Given the description of an element on the screen output the (x, y) to click on. 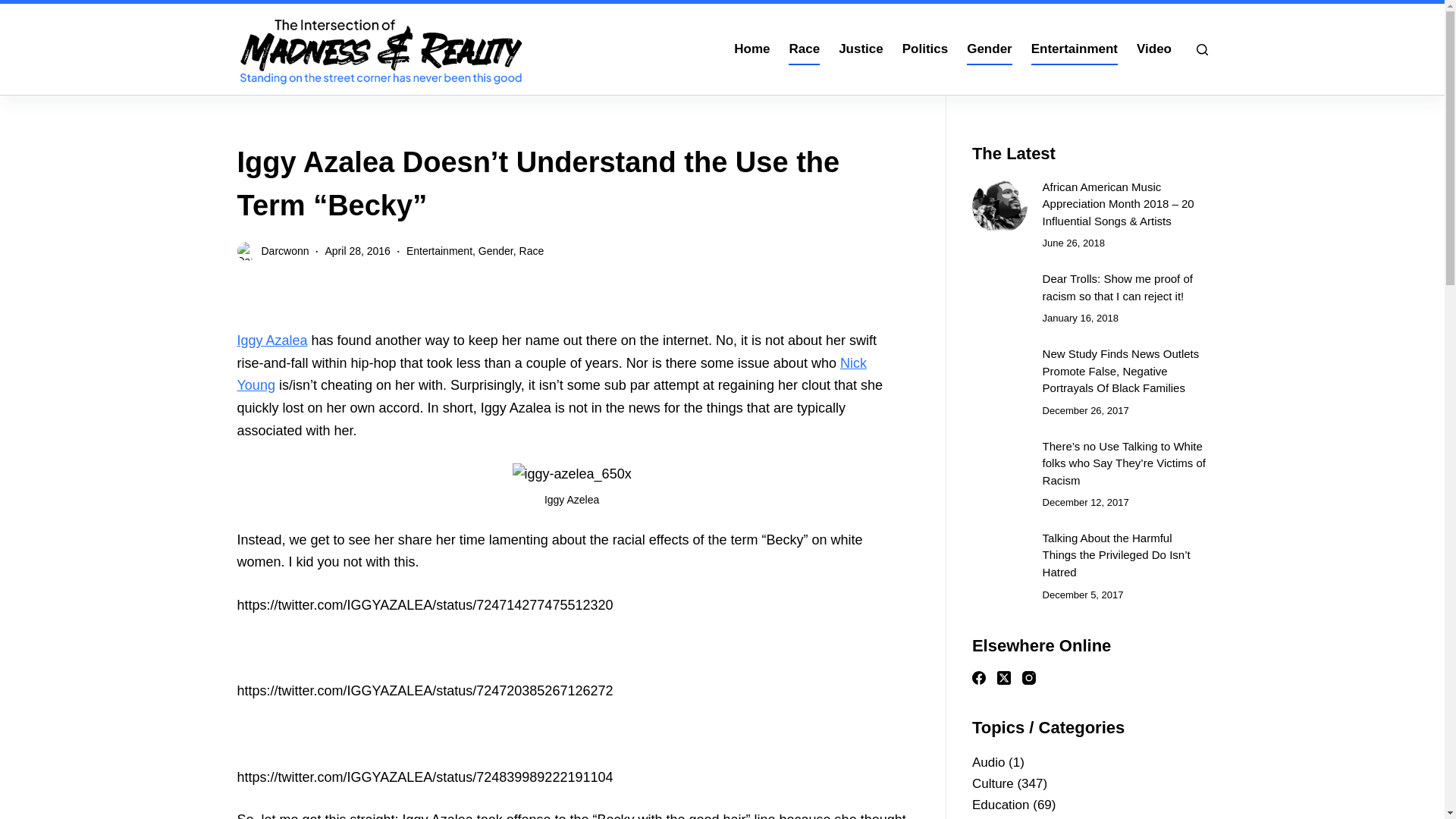
Race (803, 49)
Justice (861, 49)
Entertainment (1074, 49)
Race (531, 250)
Iggy Azalea (271, 340)
Entertainment (438, 250)
Skip to content (15, 7)
Darcwonn (284, 250)
Iggy Azalea (271, 340)
Nick Young (550, 374)
